Given the description of an element on the screen output the (x, y) to click on. 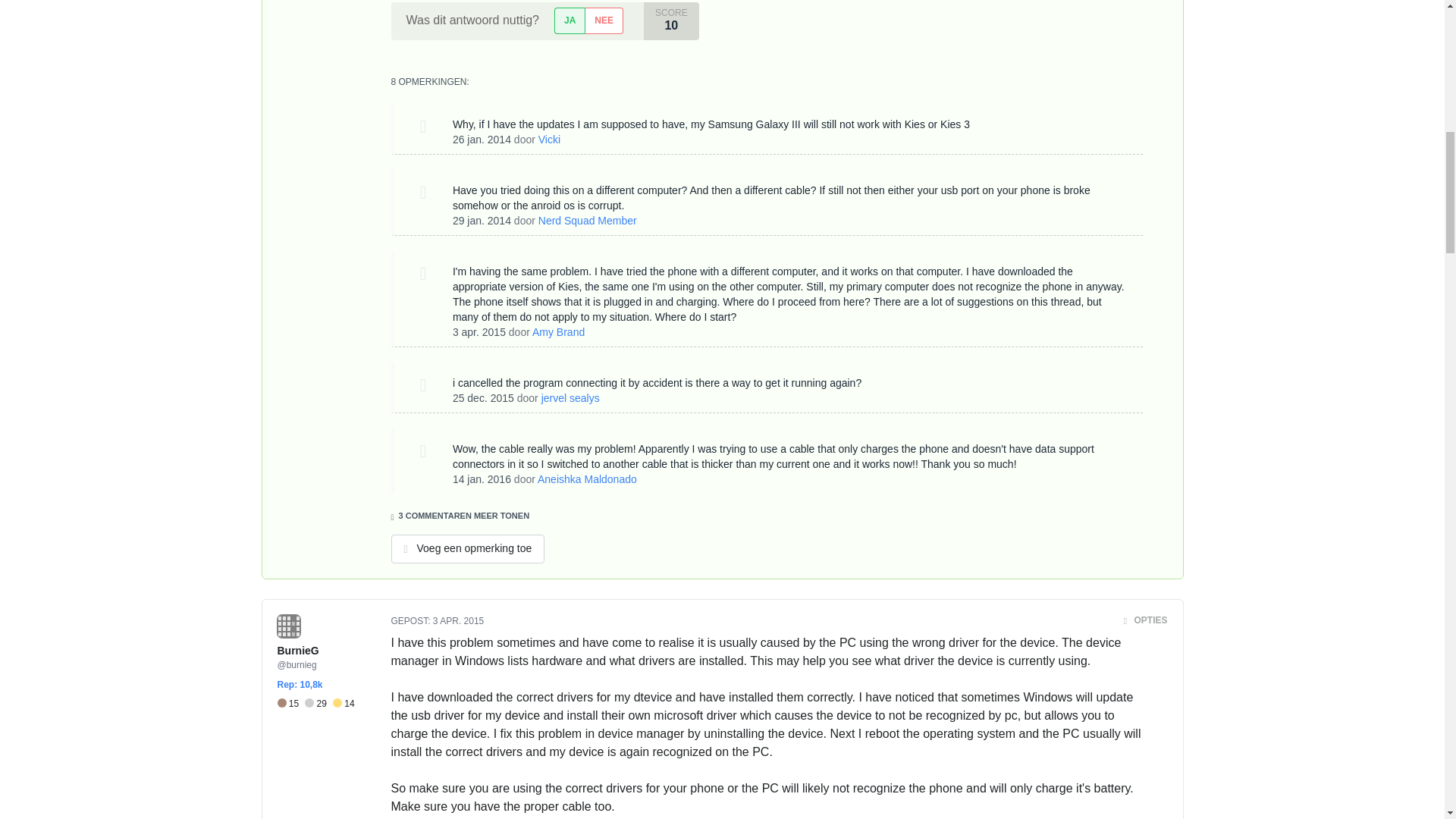
Sun, 26 Jan 2014 19:17:16 -0700 (481, 139)
Fri, 03 Apr 2015 04:42:31 -0700 (478, 331)
Wed, 29 Jan 2014 20:06:42 -0700 (481, 220)
